Given the description of an element on the screen output the (x, y) to click on. 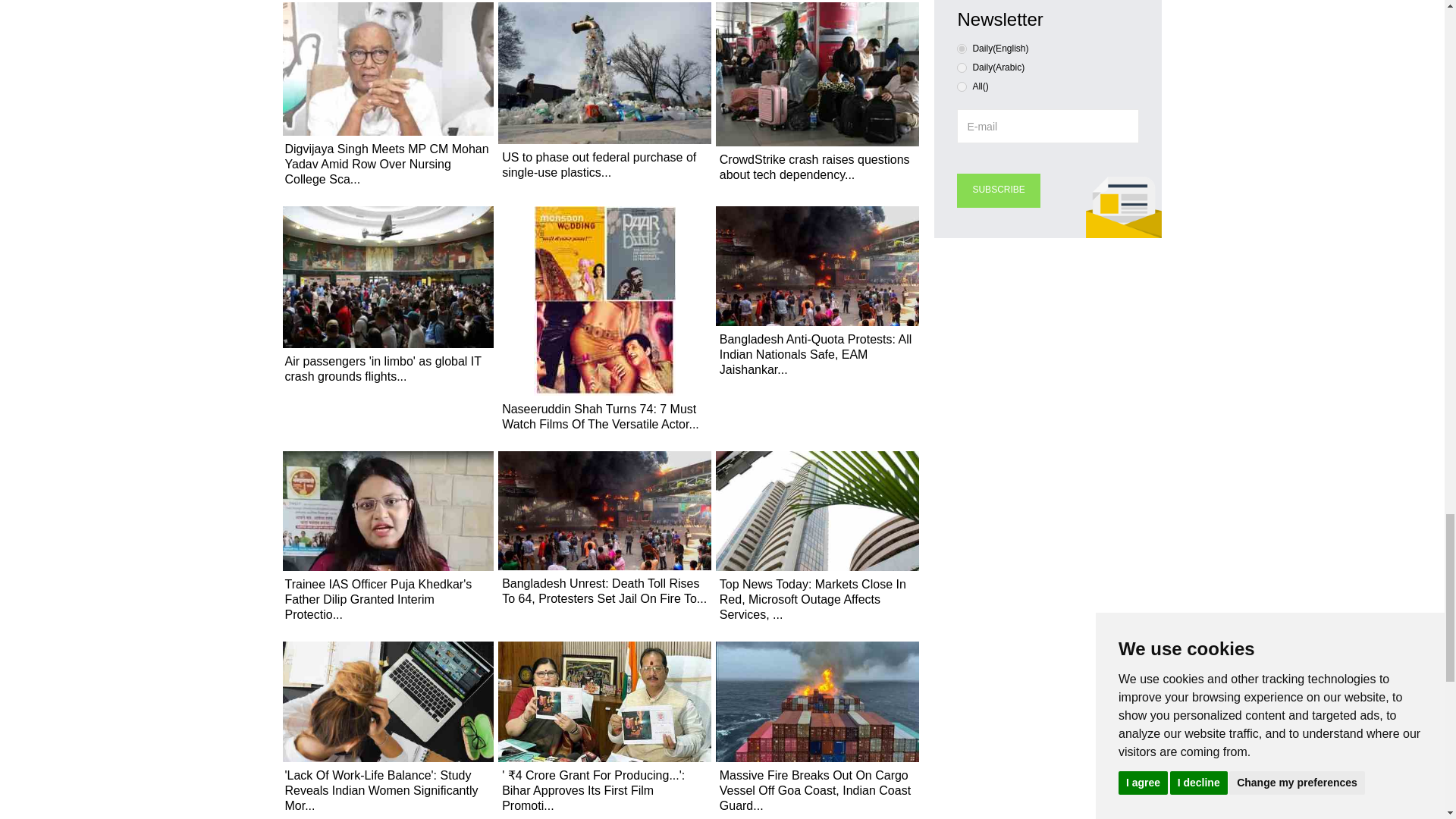
0 (961, 49)
Subscribe (997, 190)
1 (961, 67)
2 (961, 86)
